Given the description of an element on the screen output the (x, y) to click on. 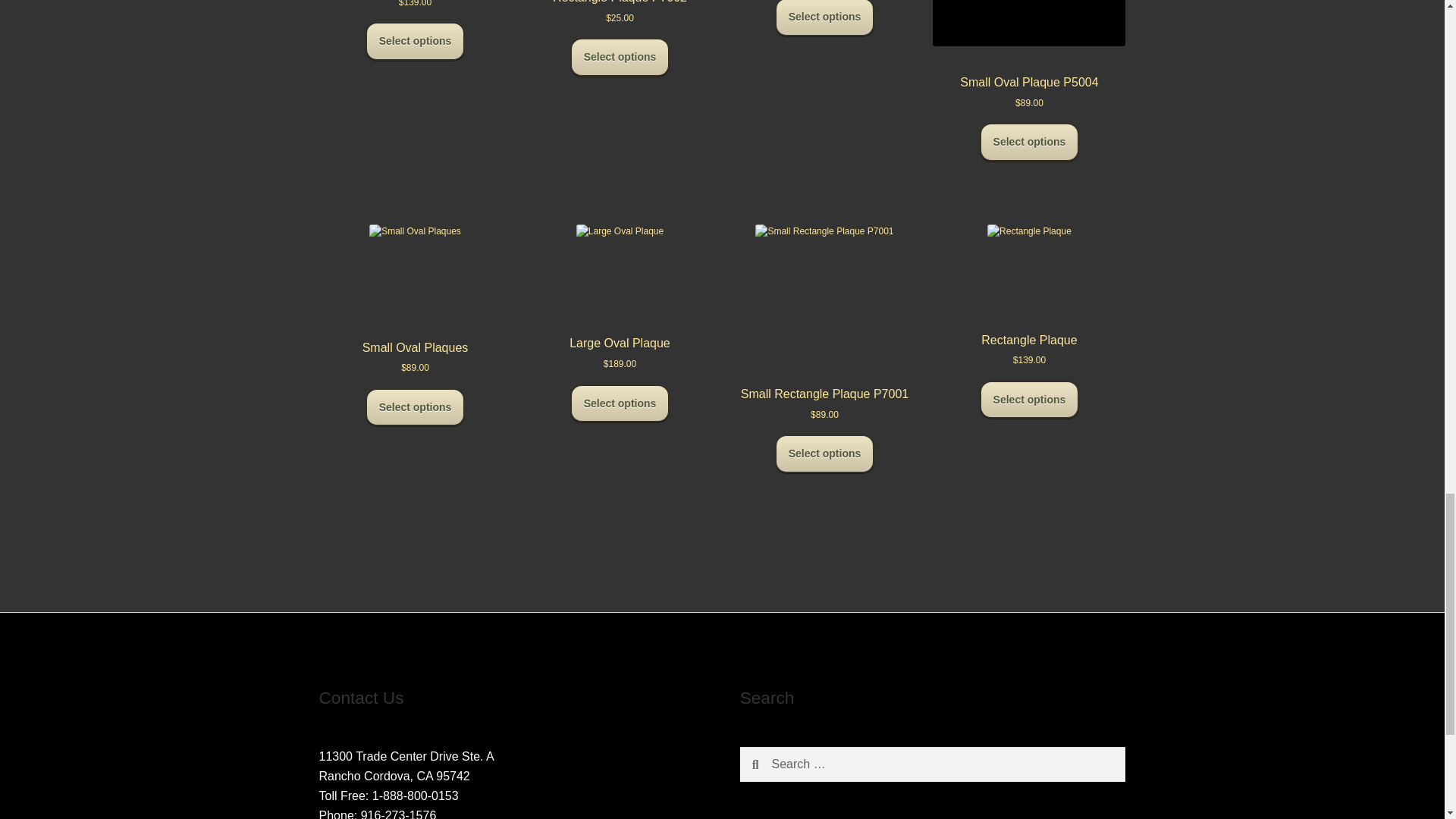
Select options (619, 403)
Small Rectangle Plaque P7001 (824, 315)
Rectangle Plaque P7002 (620, 5)
Select options (1029, 399)
Select options (1029, 141)
Select options (824, 18)
Select options (824, 453)
Small Oval Plaque P5004 (1029, 48)
Select options (619, 56)
Select options (415, 41)
Select options (415, 407)
